Given the description of an element on the screen output the (x, y) to click on. 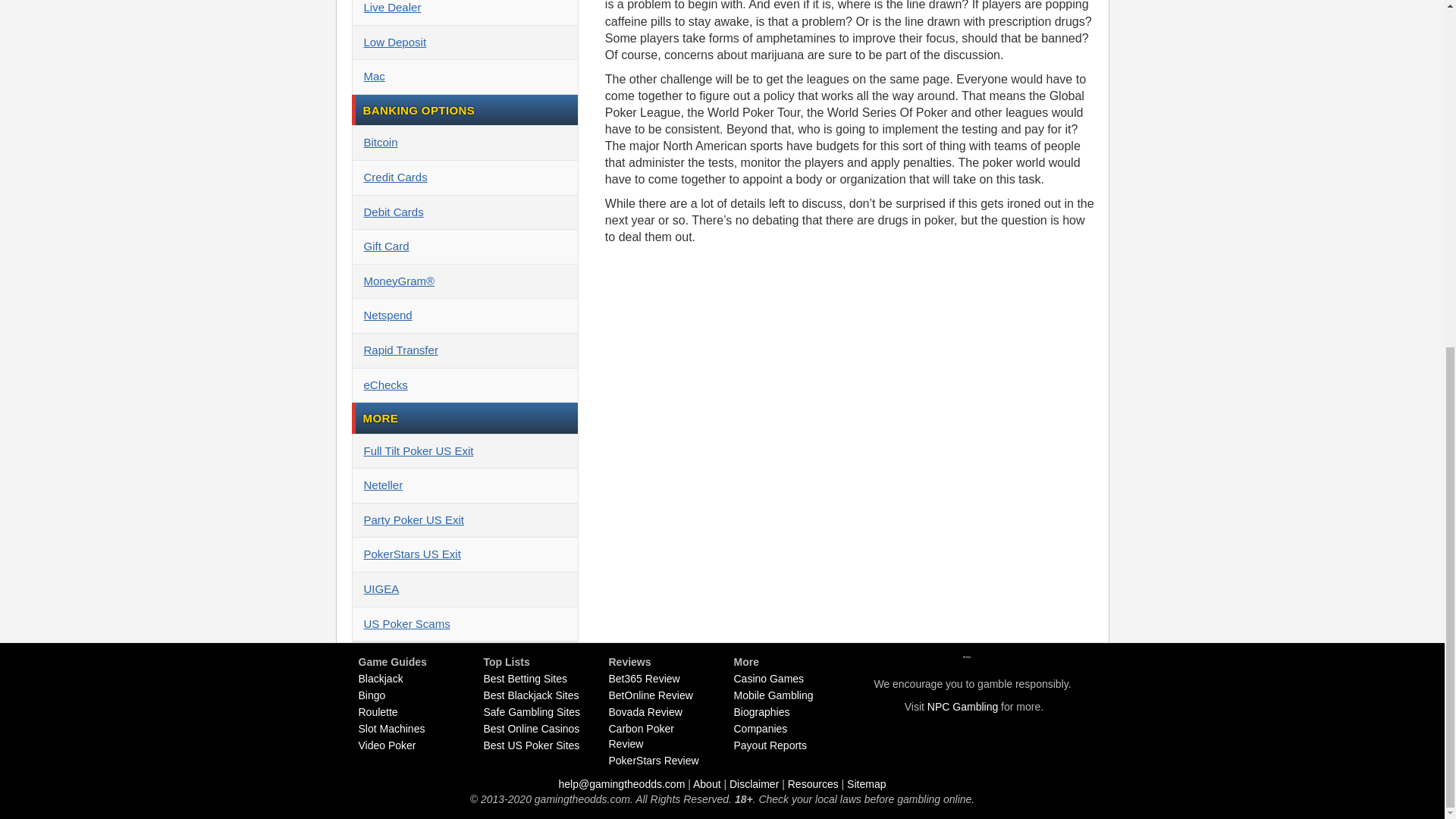
Full Tilt Poker US Exit (464, 451)
Bitcoin (464, 143)
Rapid Transfer (464, 350)
PokerStars US Exit (464, 554)
Mac (464, 77)
Live Dealer (464, 12)
Party Poker US Exit (464, 520)
Debit Cards (464, 212)
Credit Cards (464, 177)
Neteller (464, 485)
